Given the description of an element on the screen output the (x, y) to click on. 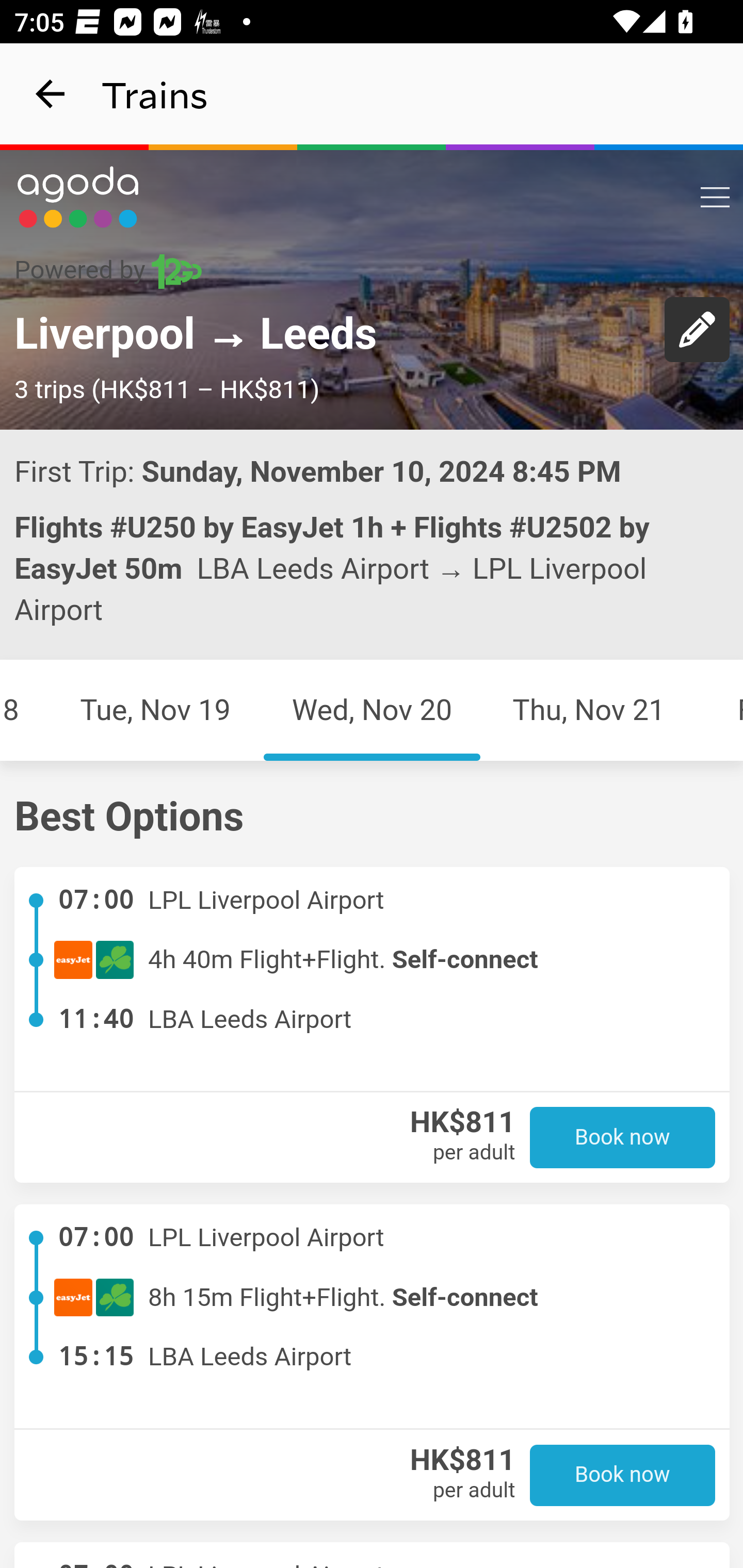
navigation_button (50, 93)
Link to main page 5418 (78, 197)
Tue, Nov 19 (154, 710)
Wed, Nov 20 (371, 710)
Thu, Nov 21 (589, 710)
Book now (622, 1138)
Book now (622, 1475)
